Given the description of an element on the screen output the (x, y) to click on. 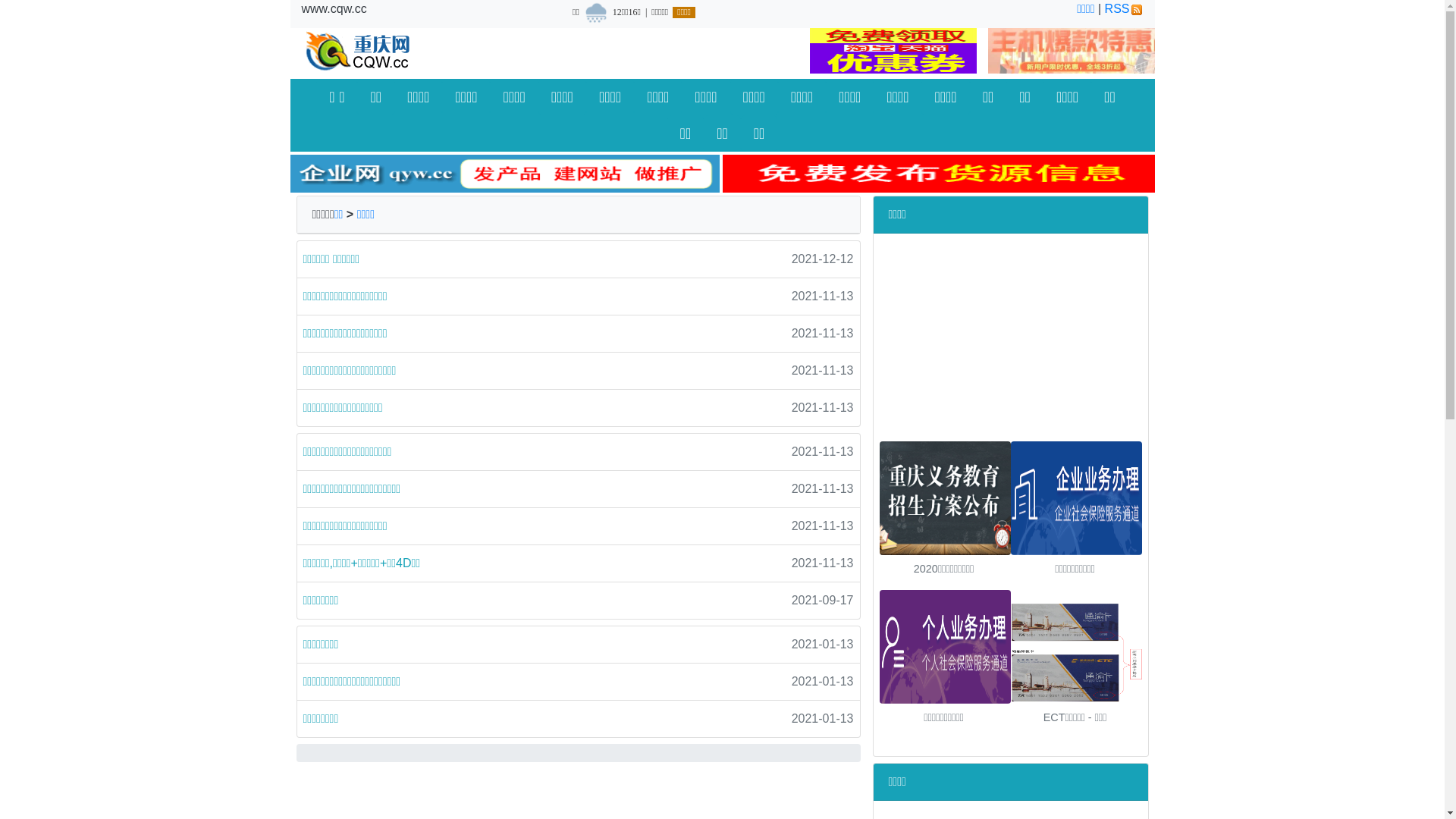
Advertisement Element type: hover (987, 328)
RSS Element type: text (1123, 8)
